Given the description of an element on the screen output the (x, y) to click on. 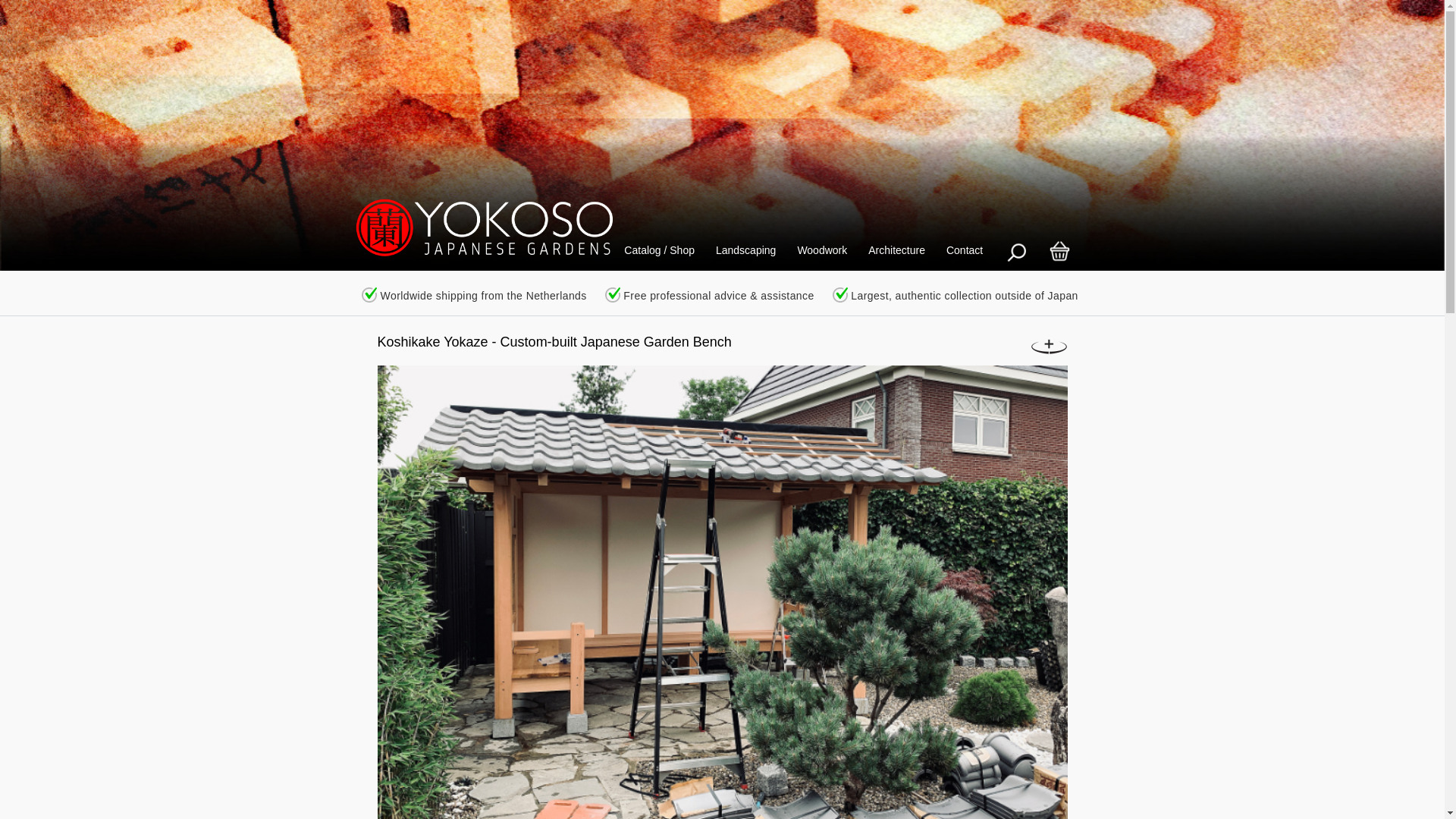
Woodwork (821, 250)
Free professional advice (612, 294)
Largest, most authentic collection outside of Japan (839, 294)
Yokoso Shopping Search (1015, 251)
Yokoso Shopping Cart (1059, 251)
Yokoso Japanese Gardens (474, 228)
Landscaping (745, 250)
Worldwide shipping from the Netherlands (369, 294)
